Given the description of an element on the screen output the (x, y) to click on. 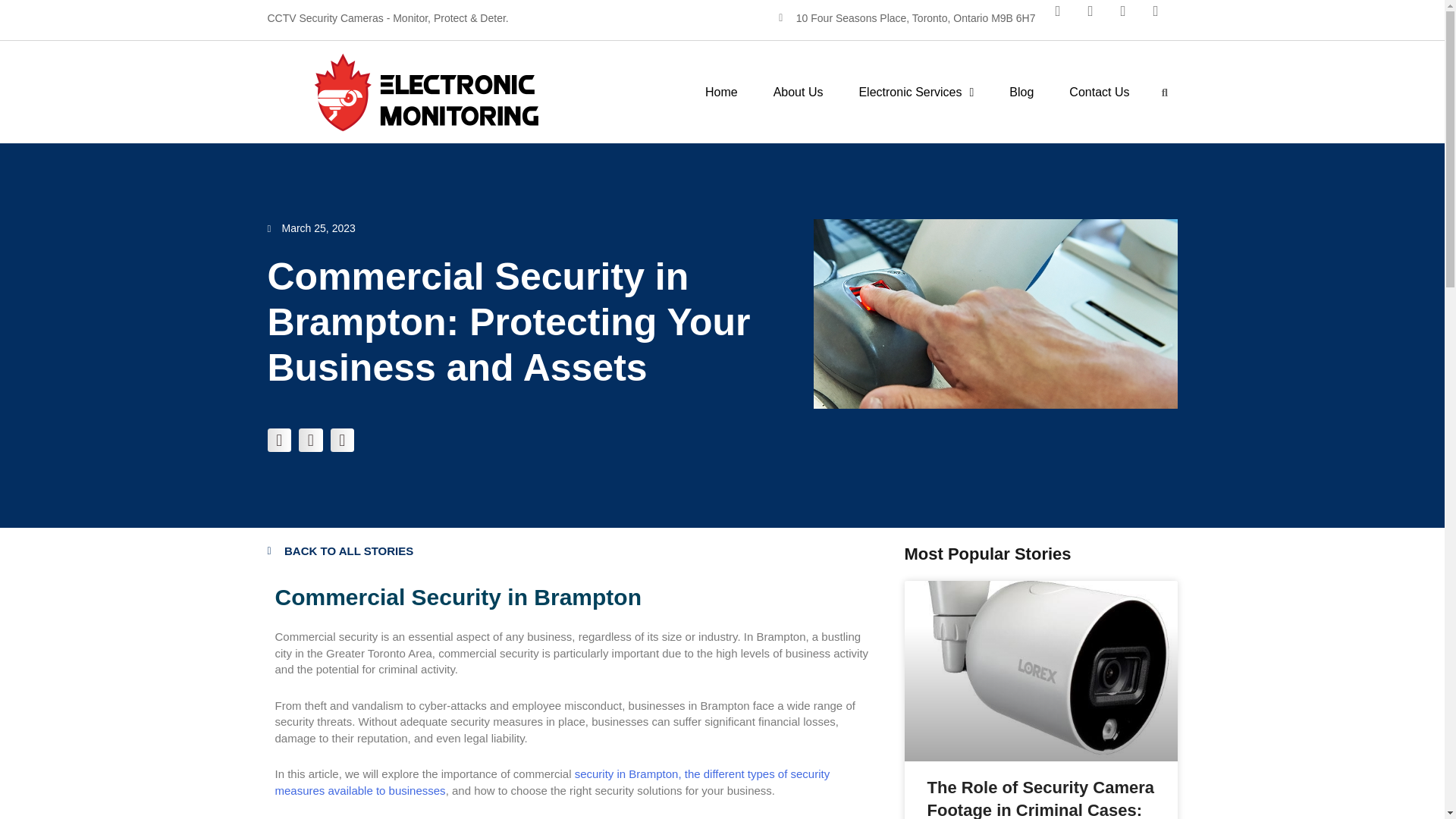
Youtube (1130, 18)
About Us (798, 91)
Blog (1021, 91)
Instagram (1162, 18)
Electronic Services (916, 91)
Contact Us (1098, 91)
10 Four Seasons Place, Toronto, Ontario M9B 6H7 (906, 17)
Twitter (1097, 18)
Home (721, 91)
Facebook (1065, 18)
